Given the description of an element on the screen output the (x, y) to click on. 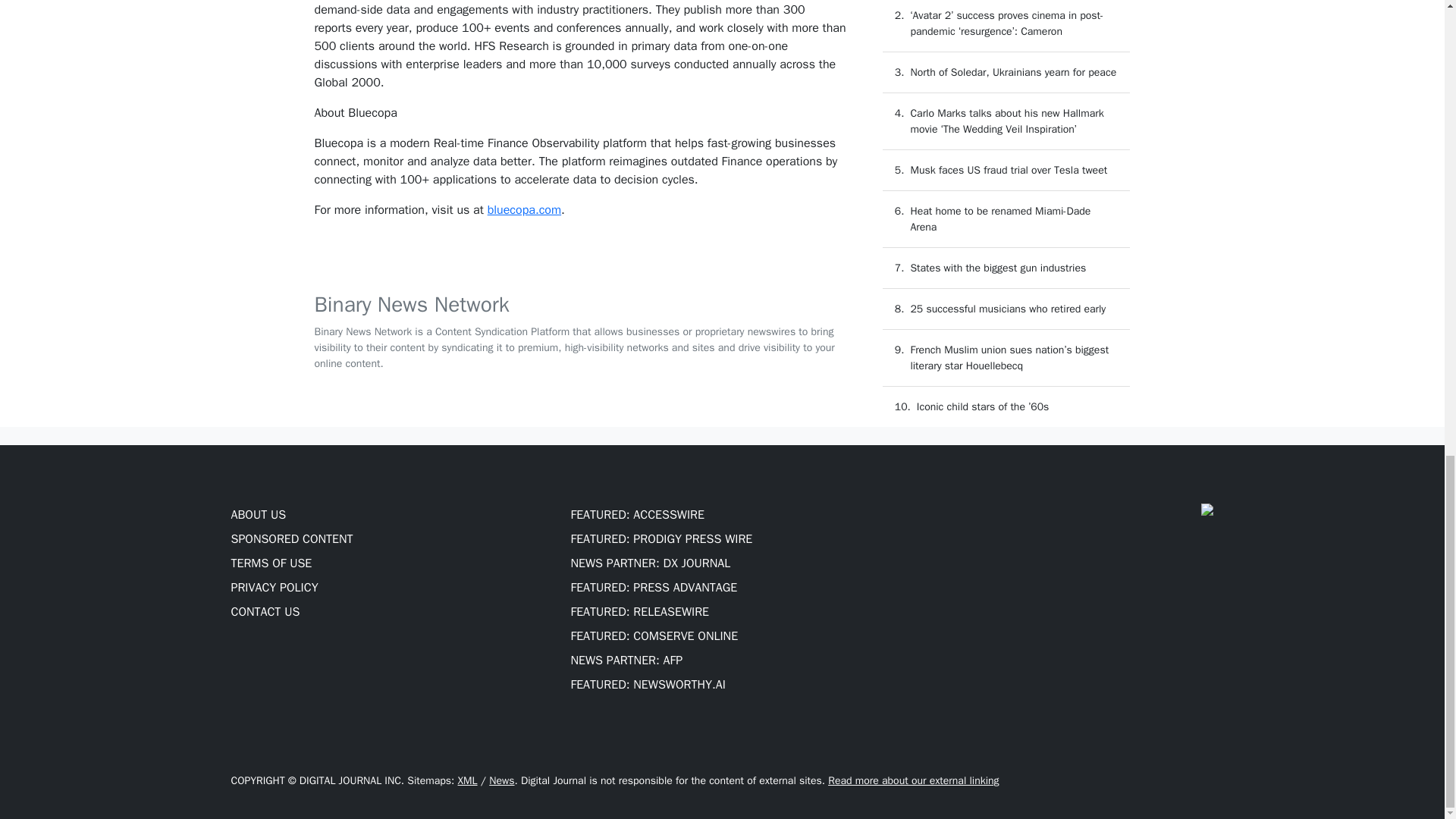
SPONSORED CONTENT (291, 539)
States with the biggest gun industries (998, 267)
PRIVACY POLICY (273, 587)
25 successful musicians who retired early (1007, 308)
TERMS OF USE (270, 563)
North of Soledar, Ukrainians yearn for peace (1013, 72)
FEATURED: PRODIGY PRESS WIRE (661, 539)
bluecopa.com (523, 209)
CONTACT US (264, 611)
Heat home to be renamed Miami-Dade Arena (1000, 218)
FEATURED: ACCESSWIRE (636, 514)
Musk faces US fraud trial over Tesla tweet (1008, 169)
ABOUT US (257, 514)
